Given the description of an element on the screen output the (x, y) to click on. 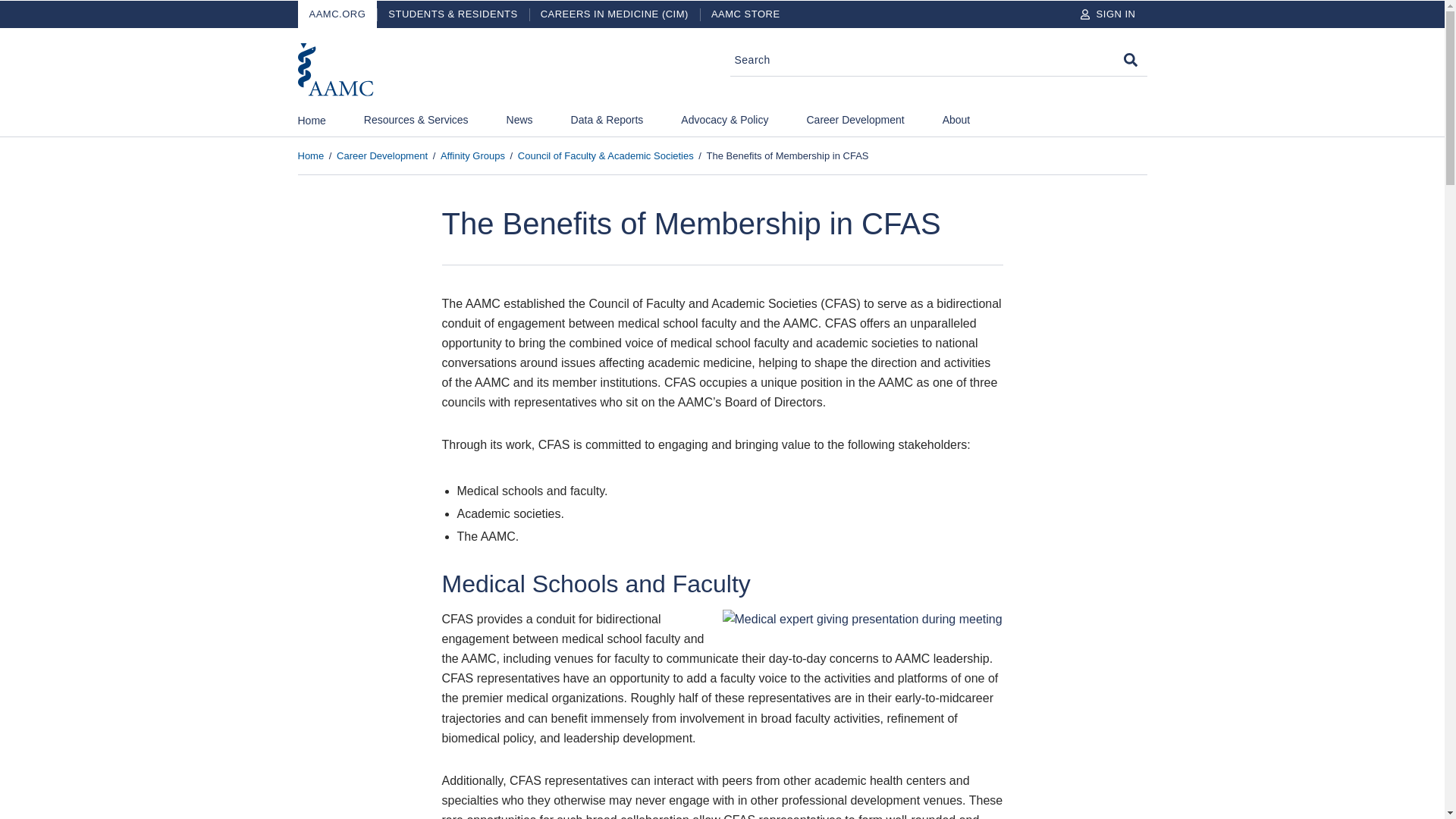
AAMC.ORG (337, 13)
AAMC STORE (746, 13)
Home (310, 124)
SIGN IN (1107, 13)
Search (1130, 59)
Search (1130, 59)
AAMC (334, 69)
